Given the description of an element on the screen output the (x, y) to click on. 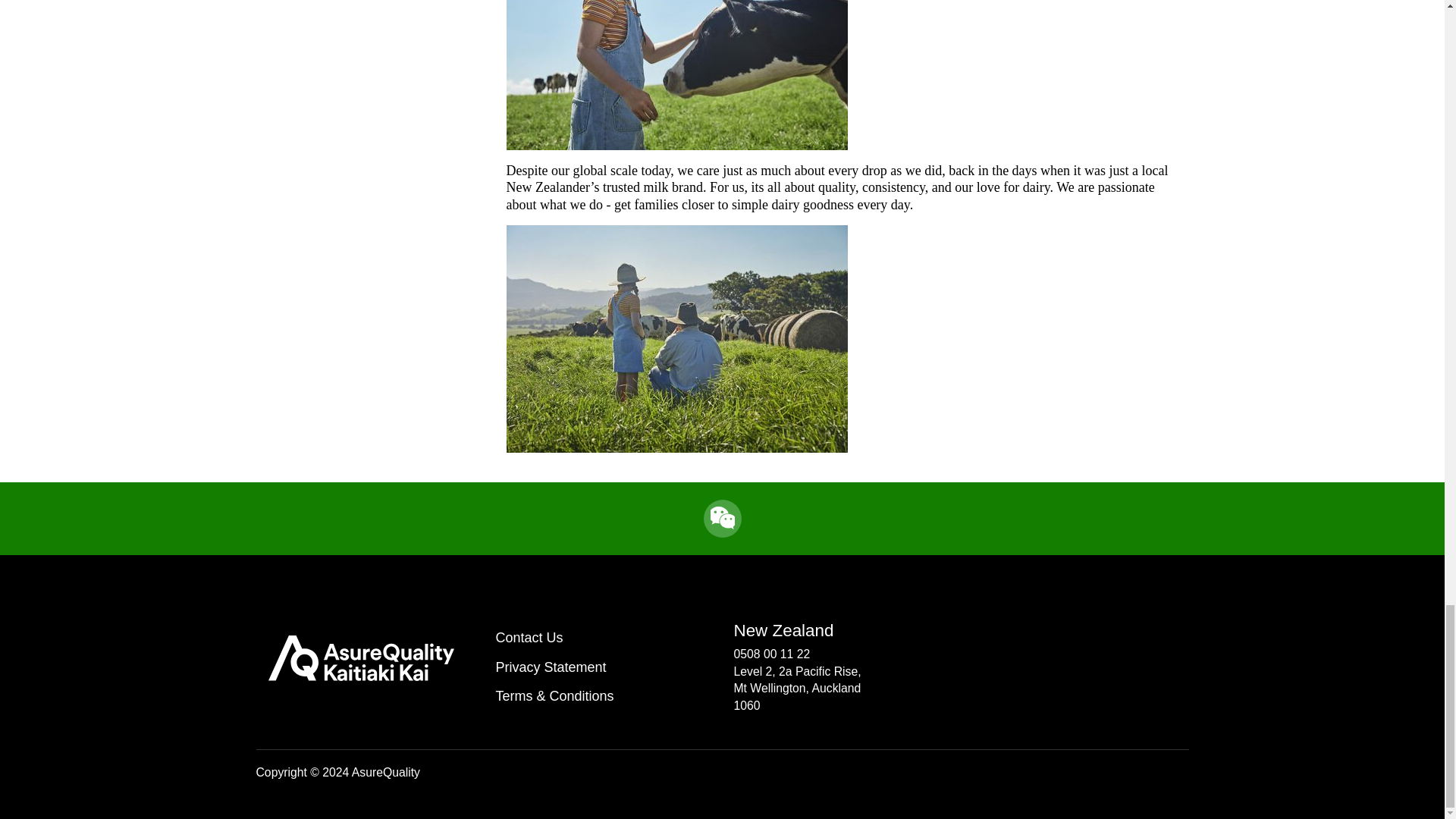
Contact Us (602, 637)
Privacy Statement (602, 667)
MF Farm (676, 338)
0508 00 11 22 (771, 653)
MF Cow (676, 74)
